Given the description of an element on the screen output the (x, y) to click on. 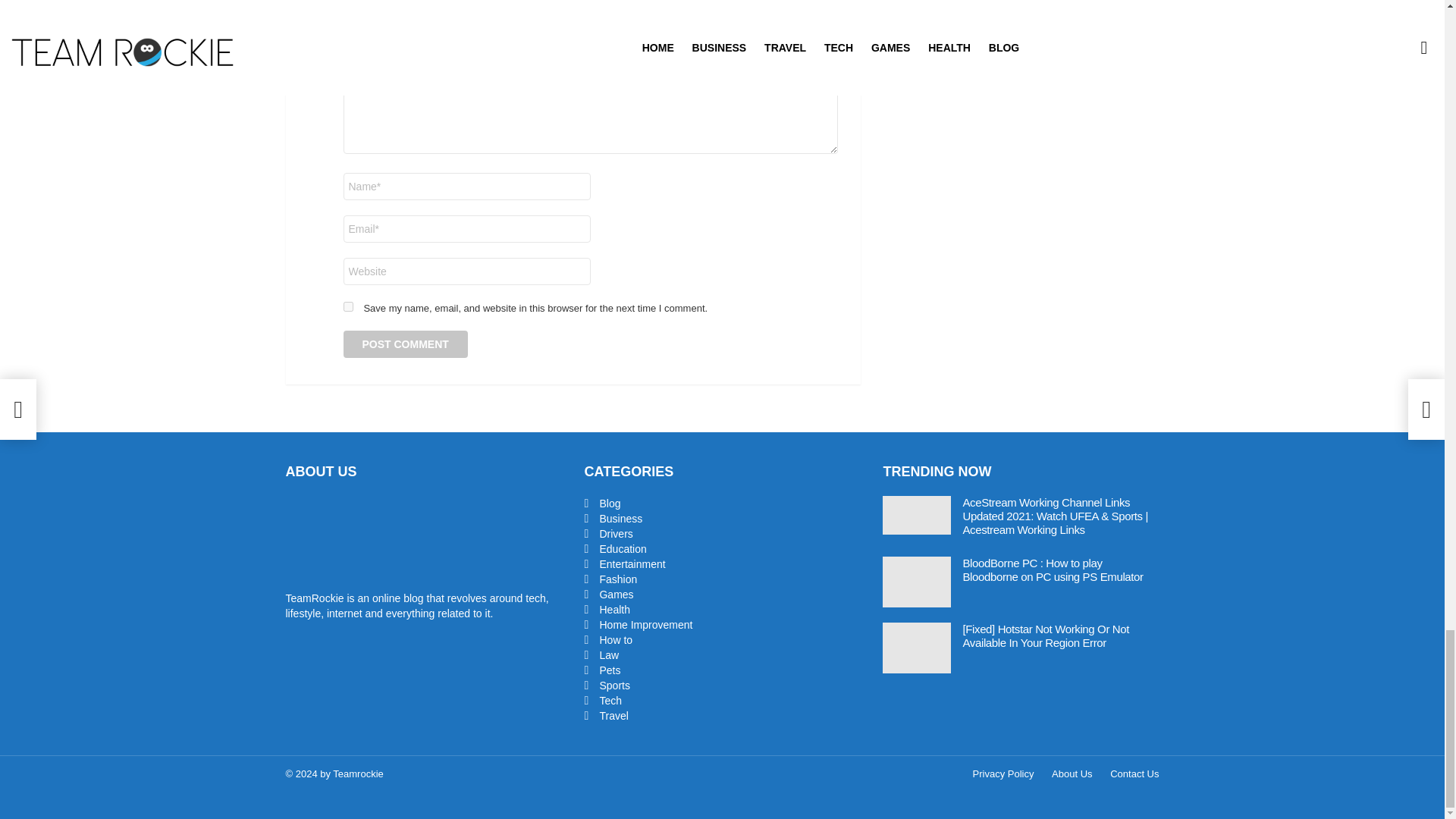
yes (347, 307)
Post Comment (404, 343)
